Given the description of an element on the screen output the (x, y) to click on. 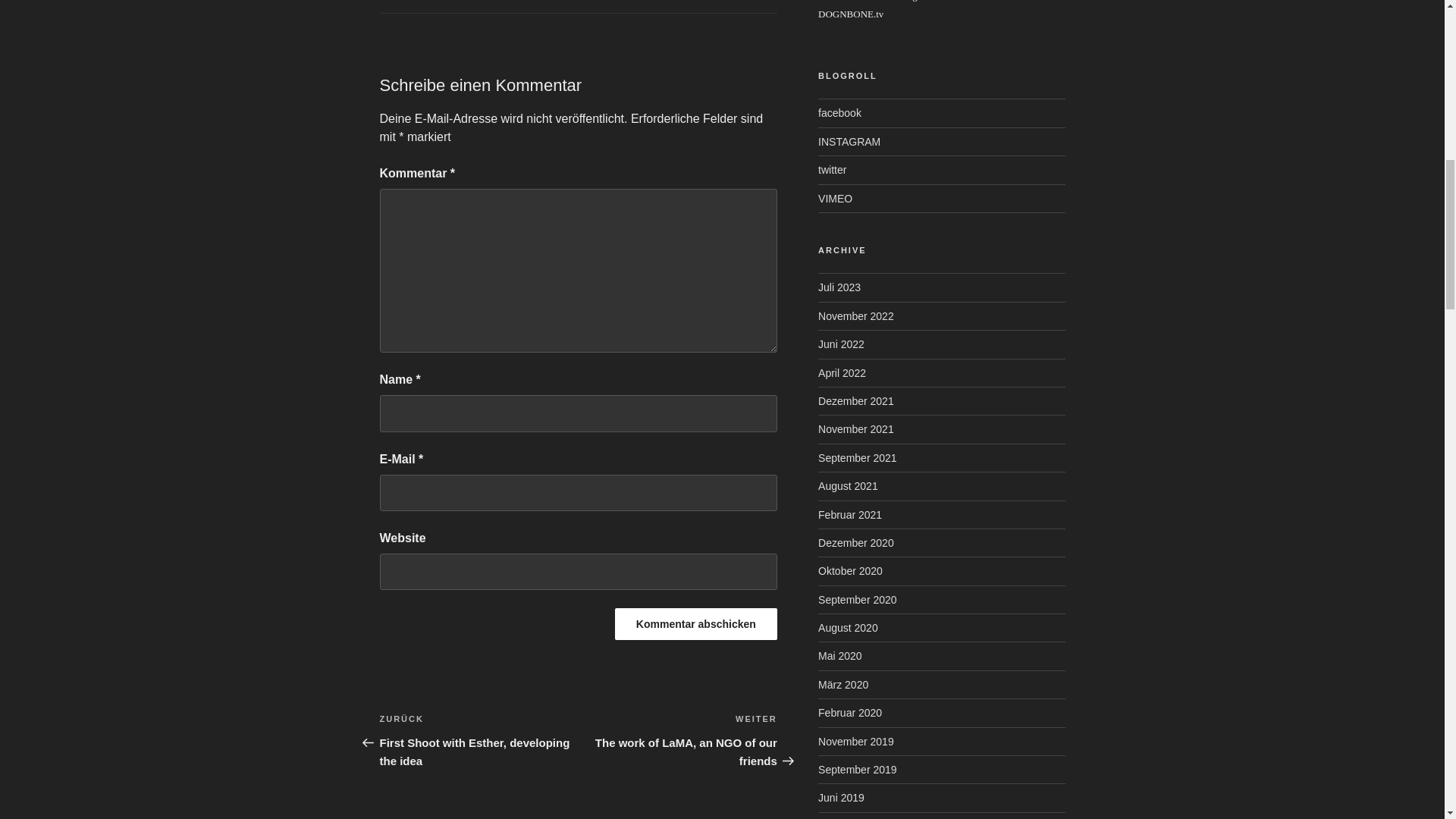
September 2020 (857, 599)
Februar 2021 (850, 514)
twitter (831, 169)
facebook (839, 112)
INSTAGRAM (849, 141)
VIMEO (834, 198)
August 2021 (847, 485)
November 2021 (855, 428)
September 2021 (857, 458)
Dezember 2021 (855, 400)
